Given the description of an element on the screen output the (x, y) to click on. 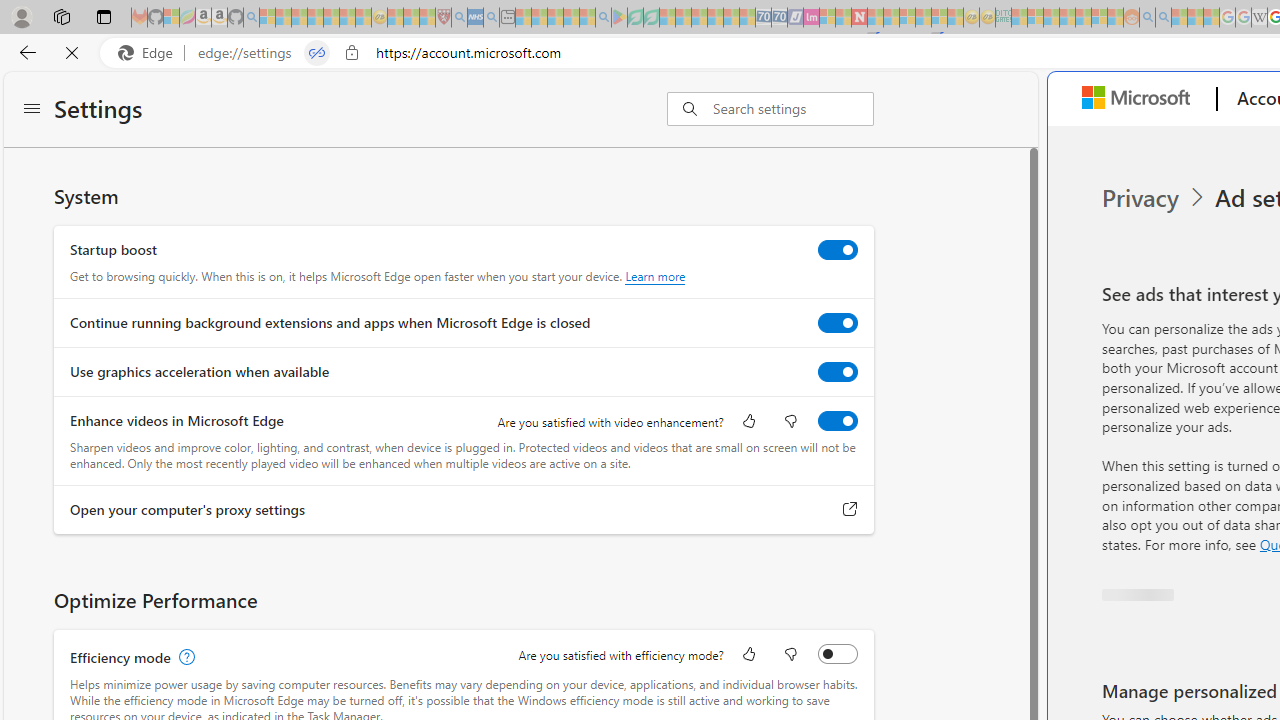
Enhance videos in Microsoft Edge (837, 421)
Use graphics acceleration when available (837, 372)
Target page - Wikipedia - Sleeping (1259, 17)
